Given the description of an element on the screen output the (x, y) to click on. 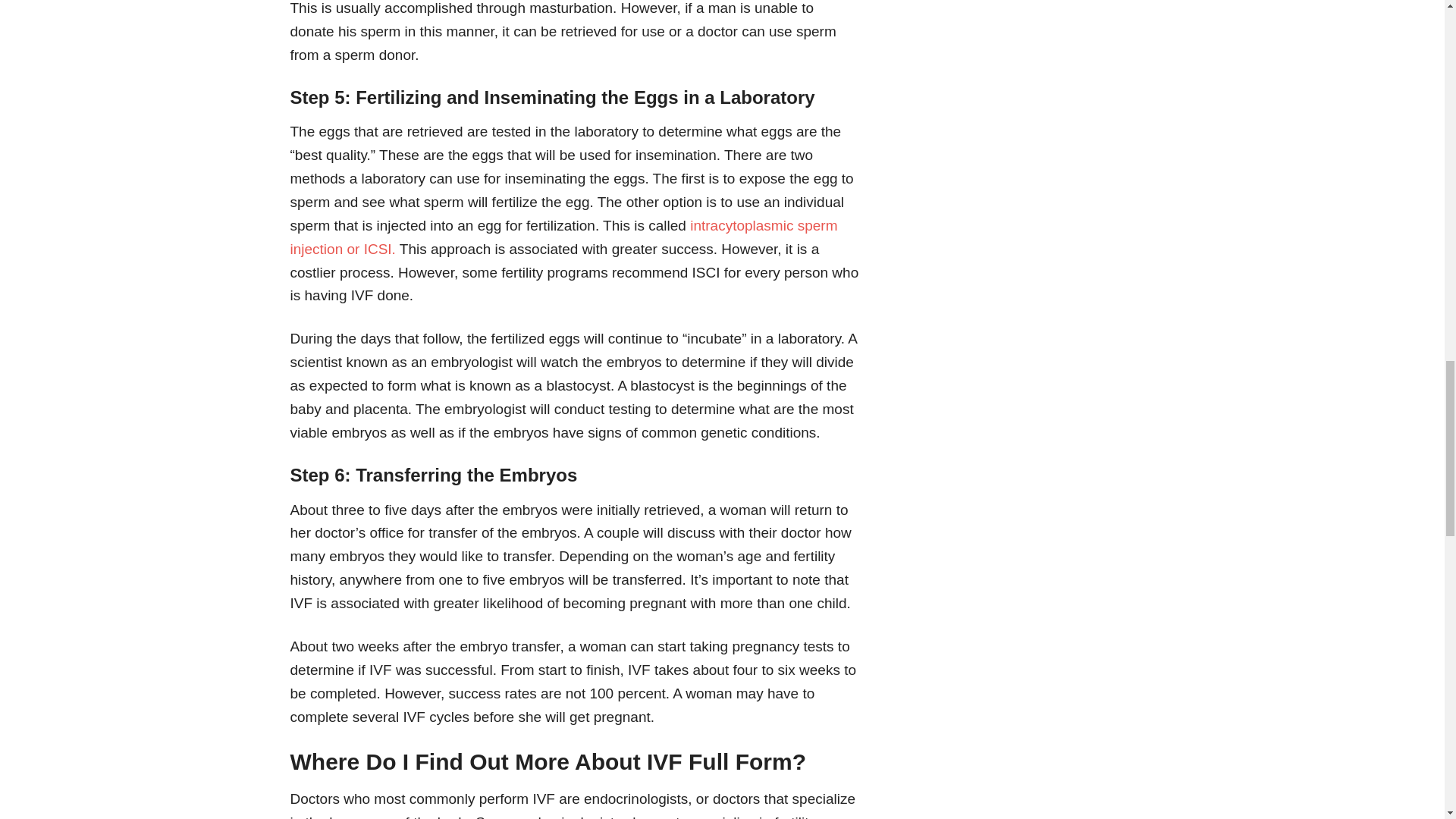
intracytoplasmic sperm injection or ICSI. (563, 237)
